Given the description of an element on the screen output the (x, y) to click on. 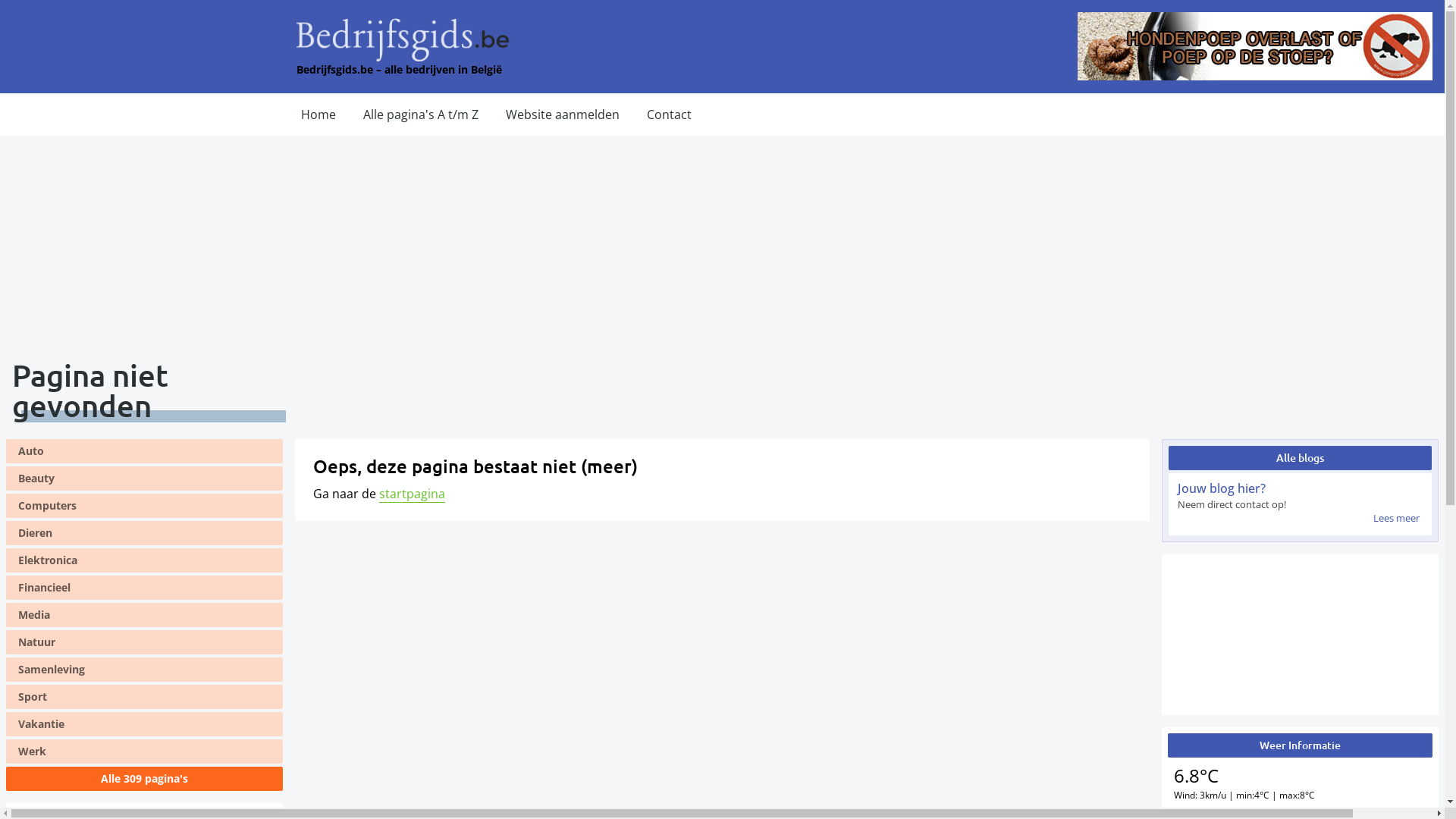
Auto Element type: text (144, 451)
Werk Element type: text (144, 751)
Media Element type: text (144, 614)
Elektronica Element type: text (144, 560)
Jouw blog hier?
Neem direct contact op!
Lees meer Element type: text (1299, 504)
Financieel Element type: text (144, 587)
Vakantie Element type: text (144, 724)
Contact Element type: text (668, 114)
Dieren Element type: text (144, 532)
Beauty Element type: text (144, 478)
Natuur Element type: text (144, 642)
Samenleving Element type: text (144, 669)
Home Element type: text (318, 114)
Computers Element type: text (144, 505)
Alle 309 pagina's Element type: text (144, 778)
startpagina Element type: text (412, 493)
M&M WebMedia animatievideo Element type: hover (1299, 634)
Website aanmelden Element type: text (562, 114)
Alle pagina's A t/m Z Element type: text (420, 114)
Sport Element type: text (144, 696)
